Given the description of an element on the screen output the (x, y) to click on. 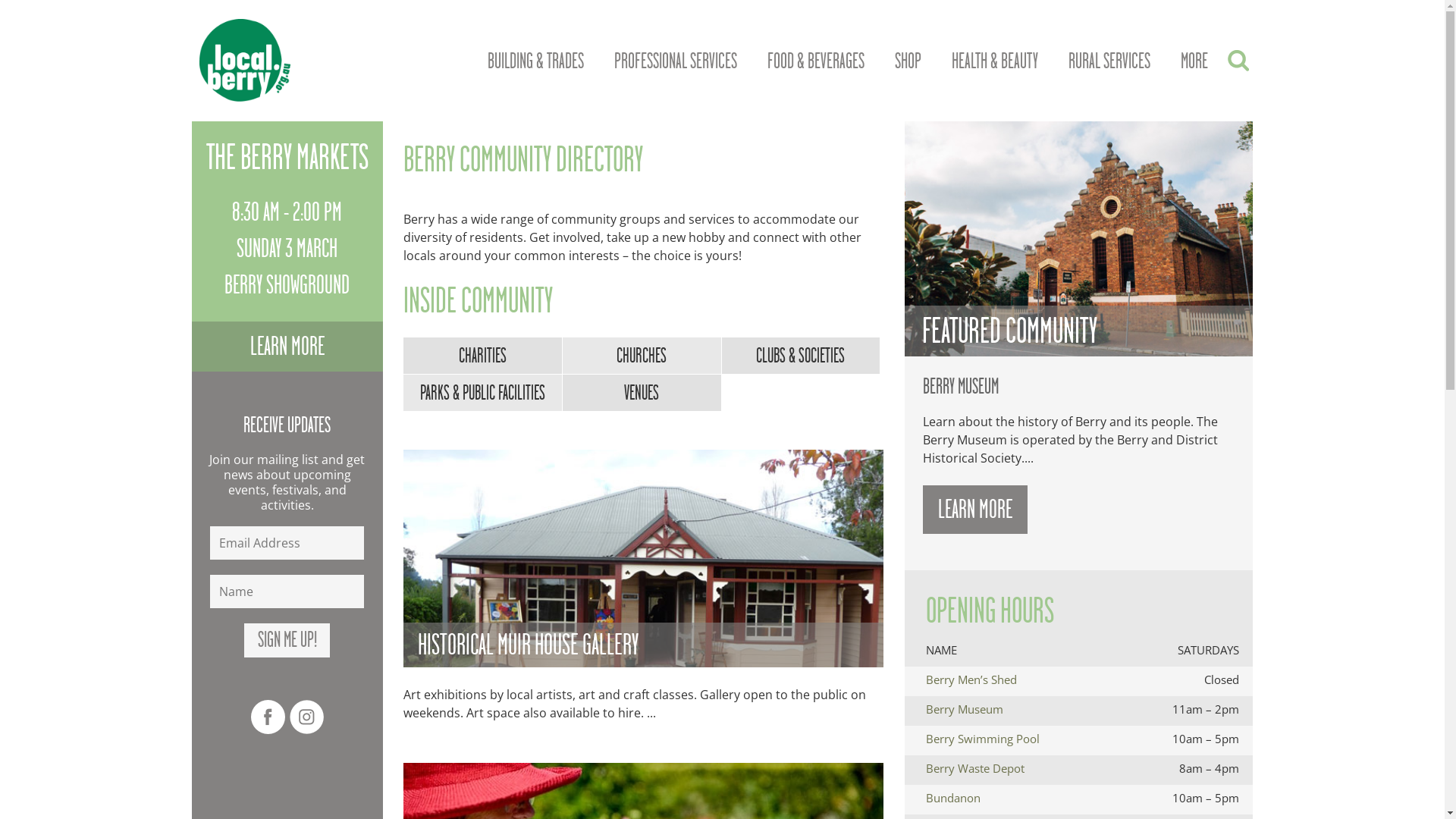
PROFESSIONAL SERVICES Element type: text (675, 61)
HISTORICAL MUIR HOUSE GALLERY Element type: text (643, 558)
Berry NSW Element type: hover (238, 60)
Berry Swimming Pool Element type: text (982, 738)
Sign Me Up! Element type: text (286, 640)
CHARITIES Element type: text (482, 355)
Berry Museum Element type: text (964, 708)
SHOP Element type: text (907, 61)
Bundanon Element type: text (952, 797)
LEARN MORE Element type: text (974, 509)
HEALTH & BEAUTY Element type: text (993, 61)
PARKS & PUBLIC FACILITIES Element type: text (482, 392)
VENUES Element type: text (641, 392)
LEARN MORE Element type: text (286, 346)
CHURCHES Element type: text (641, 355)
RURAL SERVICES Element type: text (1108, 61)
FOOD & BEVERAGES Element type: text (815, 61)
Berry Waste Depot Element type: text (974, 767)
BUILDING & TRADES Element type: text (534, 61)
CLUBS & SOCIETIES Element type: text (801, 355)
MORE Element type: text (1193, 61)
